Given the description of an element on the screen output the (x, y) to click on. 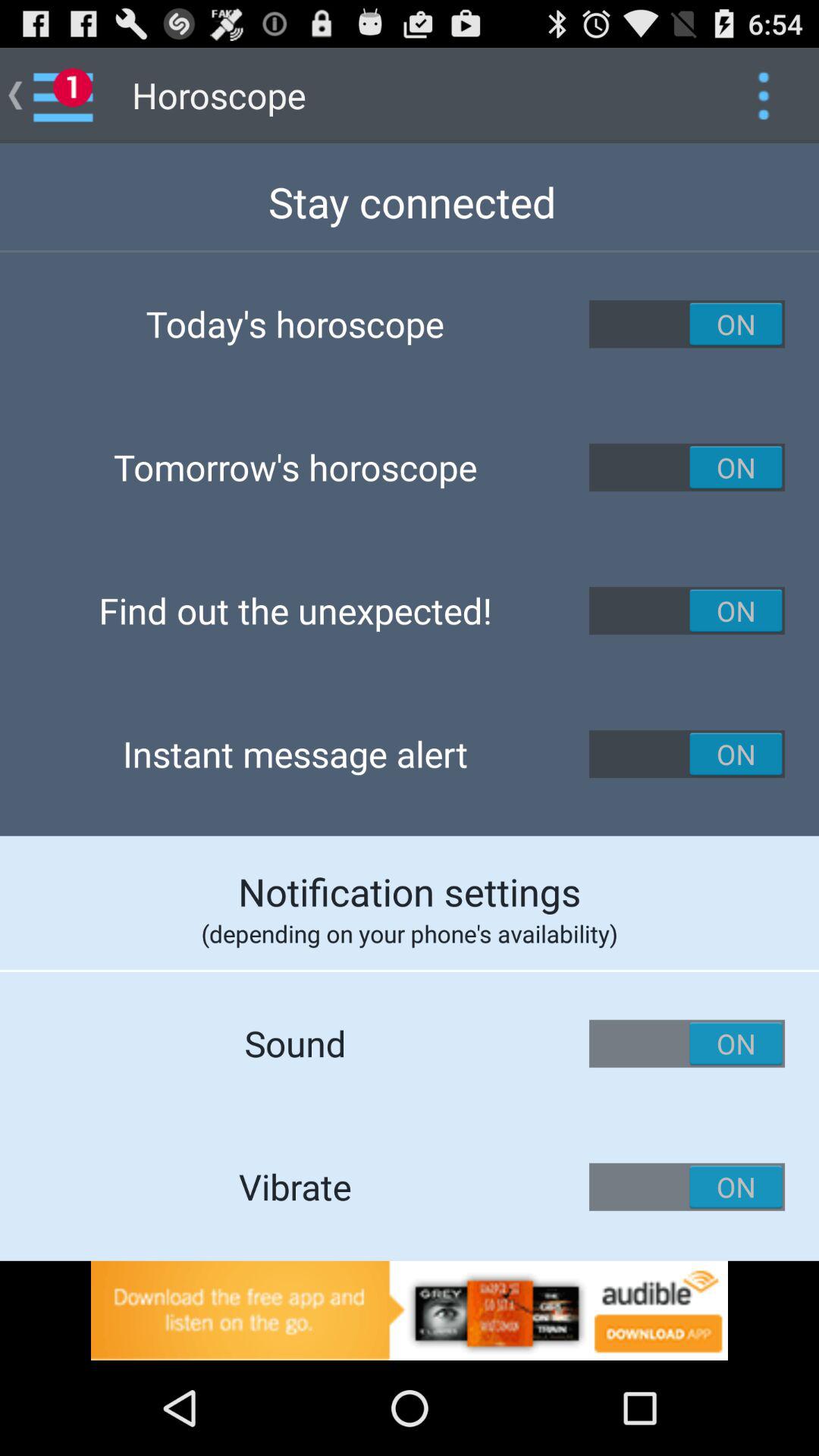
to know todays horoscope (686, 324)
